Given the description of an element on the screen output the (x, y) to click on. 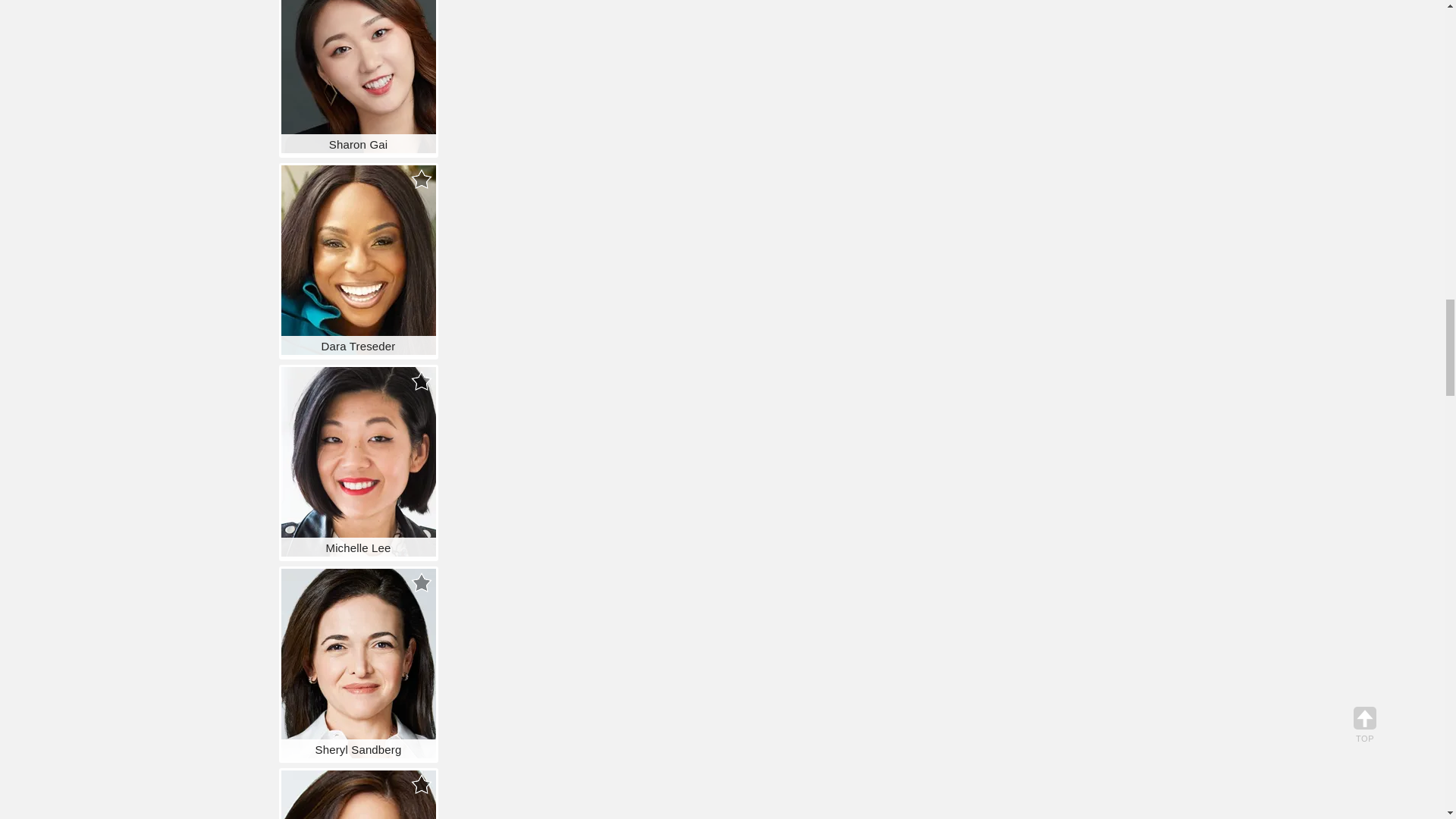
Sharon Gai (358, 76)
Deborah Farone (358, 794)
